Given the description of an element on the screen output the (x, y) to click on. 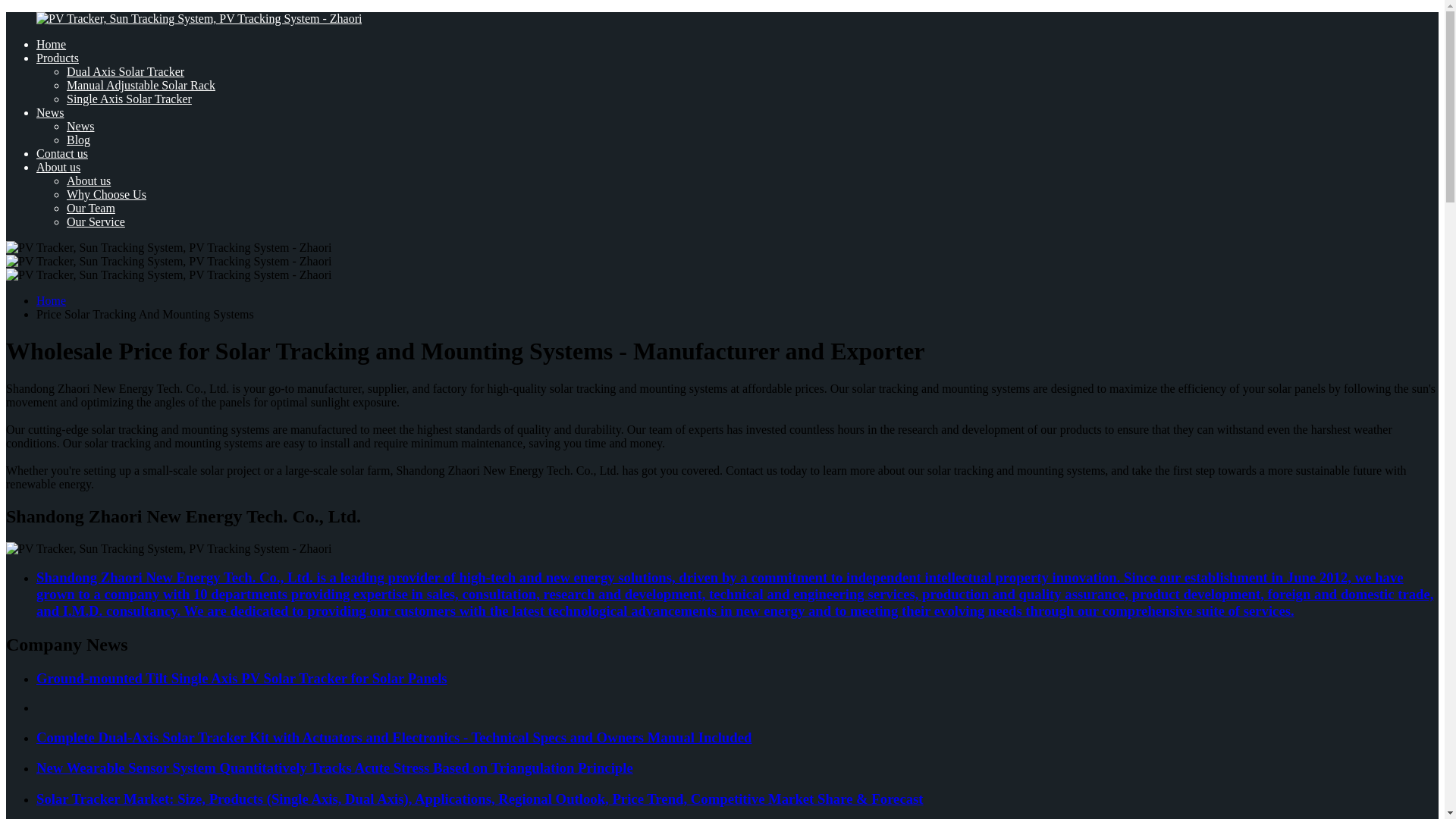
Home (50, 43)
Manual Adjustable Solar Rack (140, 84)
Dual Axis Solar Tracker (125, 71)
Our Team (90, 207)
Products (57, 57)
About us (58, 166)
News (50, 112)
About us (88, 180)
Our Service (95, 221)
Contact us (61, 153)
Blog (78, 139)
Why Choose Us (106, 194)
News (80, 125)
Home (50, 300)
Single Axis Solar Tracker (129, 98)
